Given the description of an element on the screen output the (x, y) to click on. 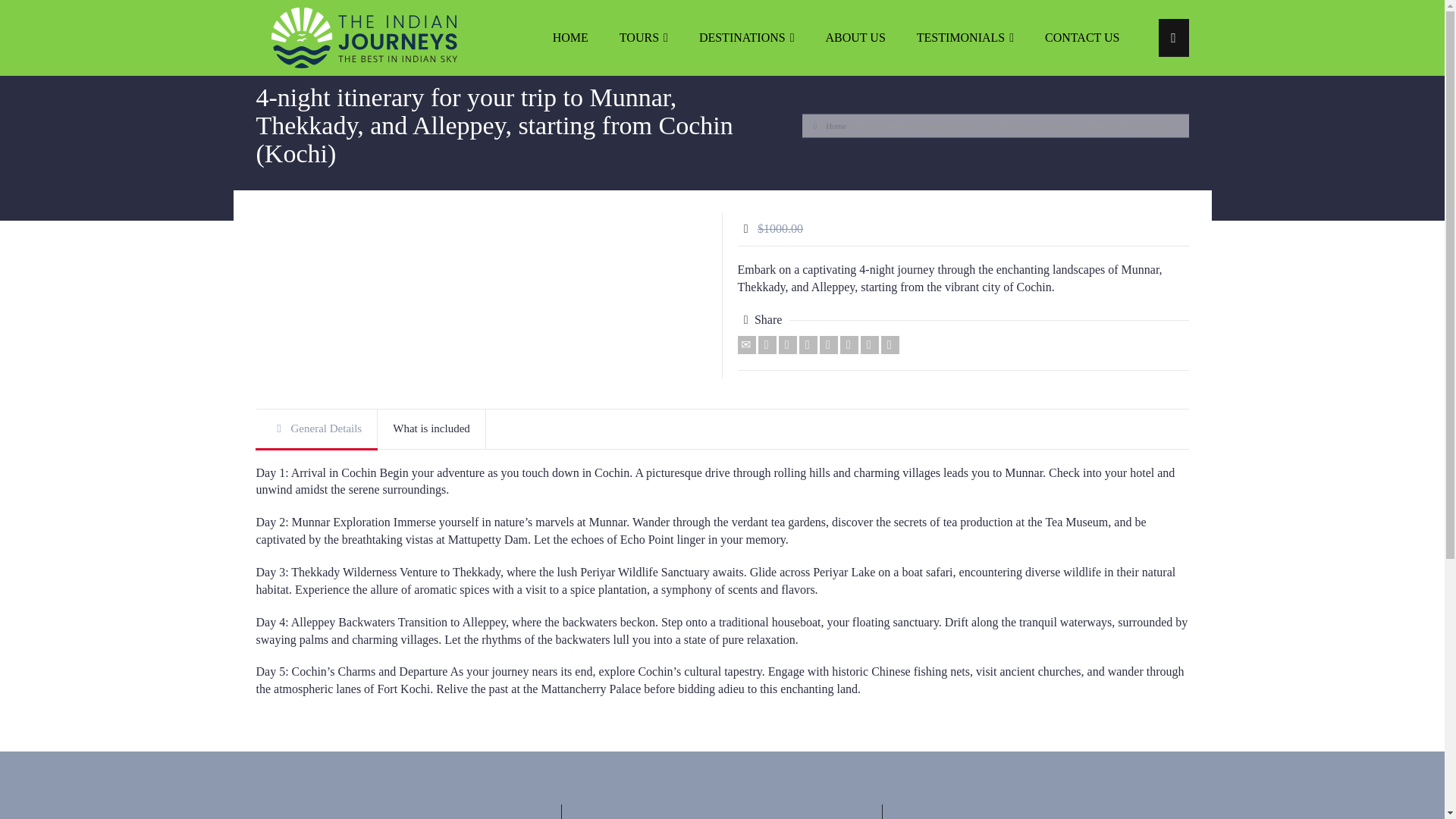
TOURS (644, 38)
Home (829, 124)
CONTACT US (1082, 38)
Email (745, 344)
The Indian Journeys (363, 36)
Vkontakte (889, 344)
Facebook (786, 344)
DESTINATIONS (747, 38)
Pinterest (827, 344)
Tumblr (849, 344)
TESTIMONIALS (965, 38)
Twitter (767, 344)
ABOUT US (855, 38)
Linkedin (868, 344)
